Given the description of an element on the screen output the (x, y) to click on. 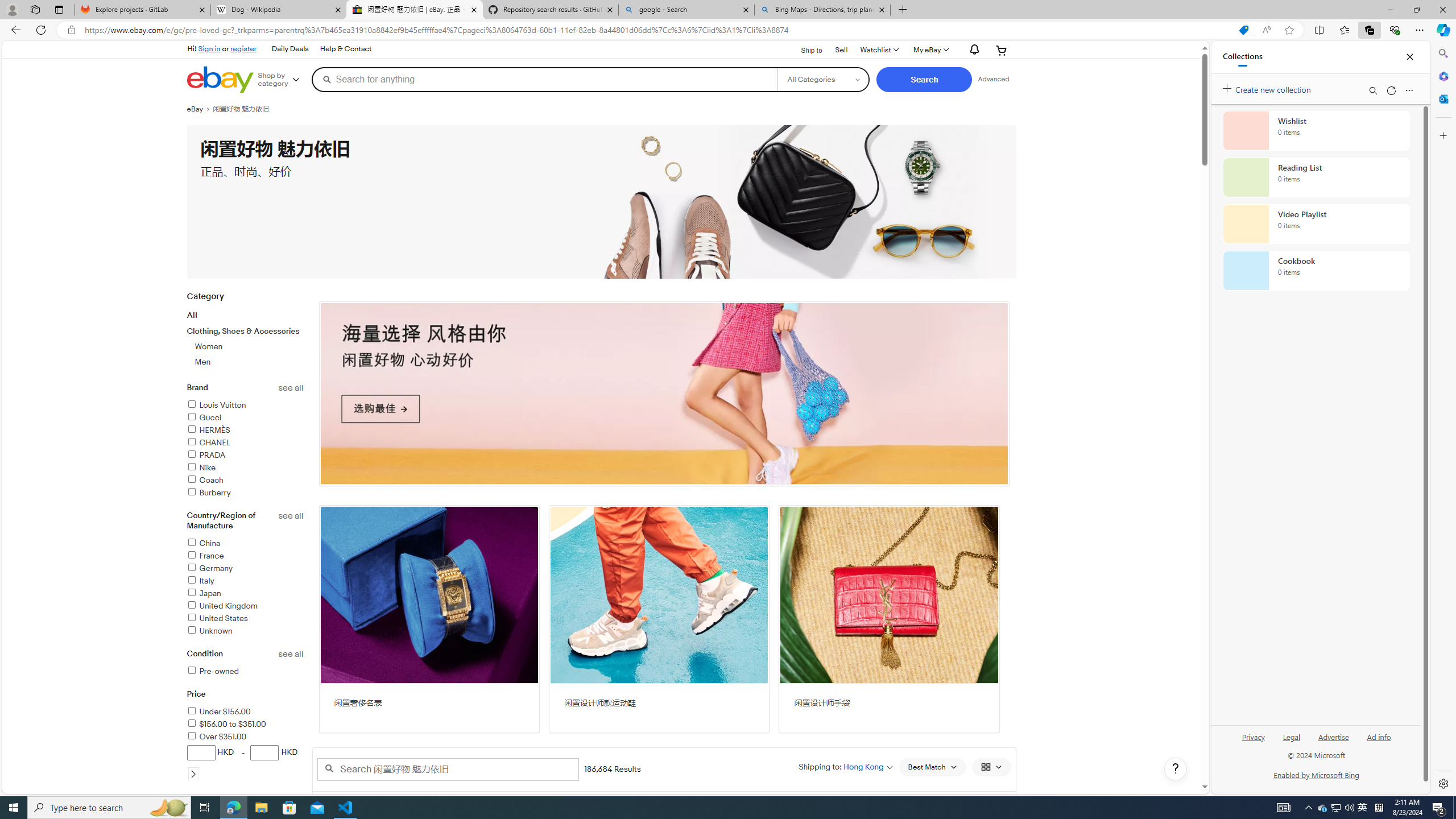
Under $156.00 (245, 711)
AllClothing, Shoes & AccessoriesWomenMen (245, 337)
Enter your search keyword (448, 768)
Maximum Value (264, 752)
Louis Vuitton (216, 405)
Class: carousel__snap-point (663, 393)
Submit price range (192, 773)
eBay Home (219, 79)
Women (208, 346)
Over $351.00 (245, 737)
Video Playlist collection, 0 items (1316, 223)
